Given the description of an element on the screen output the (x, y) to click on. 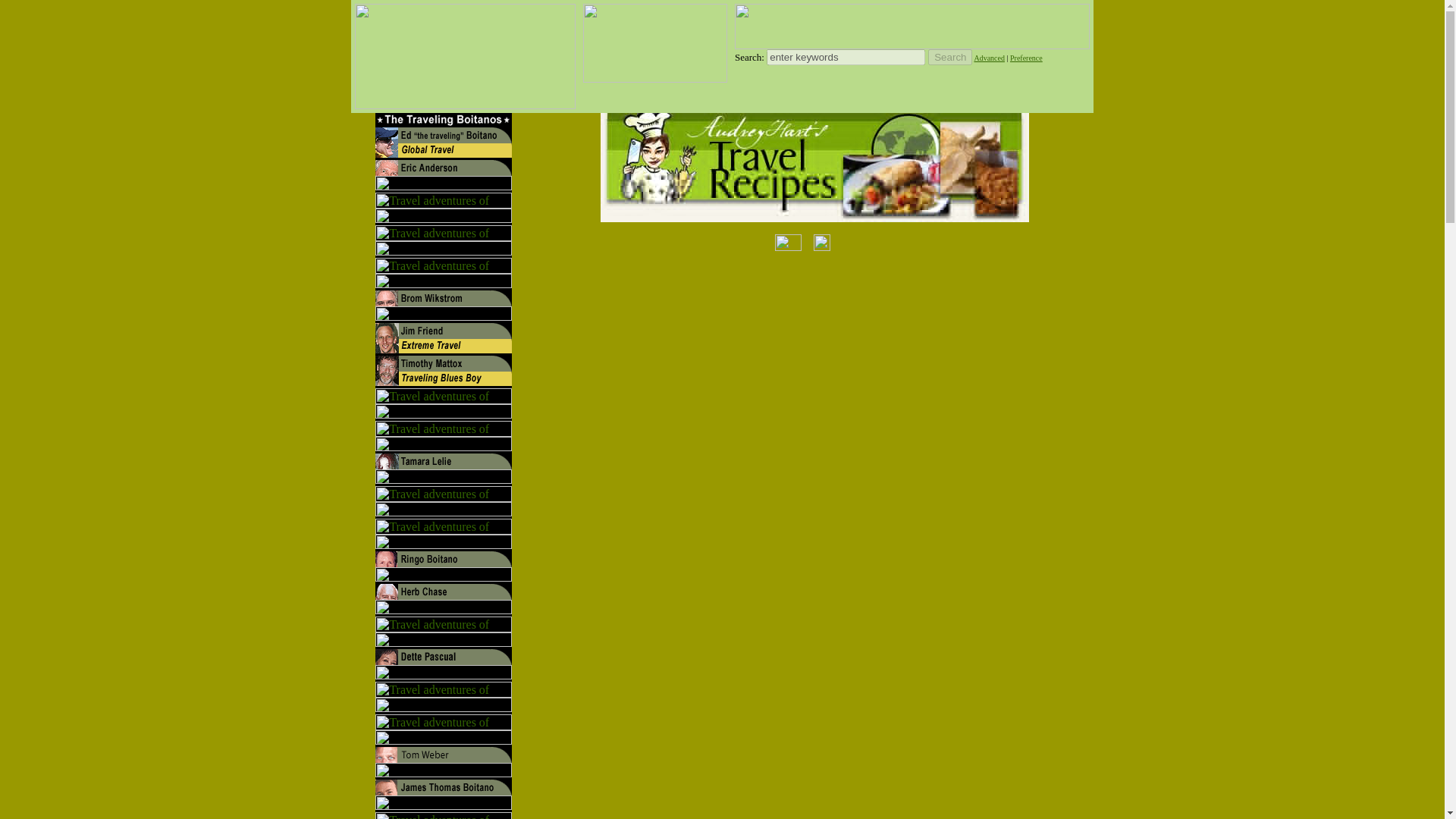
enter keywords (845, 57)
Search (950, 57)
Preference (1026, 58)
Search (950, 57)
Advanced (989, 58)
